Given the description of an element on the screen output the (x, y) to click on. 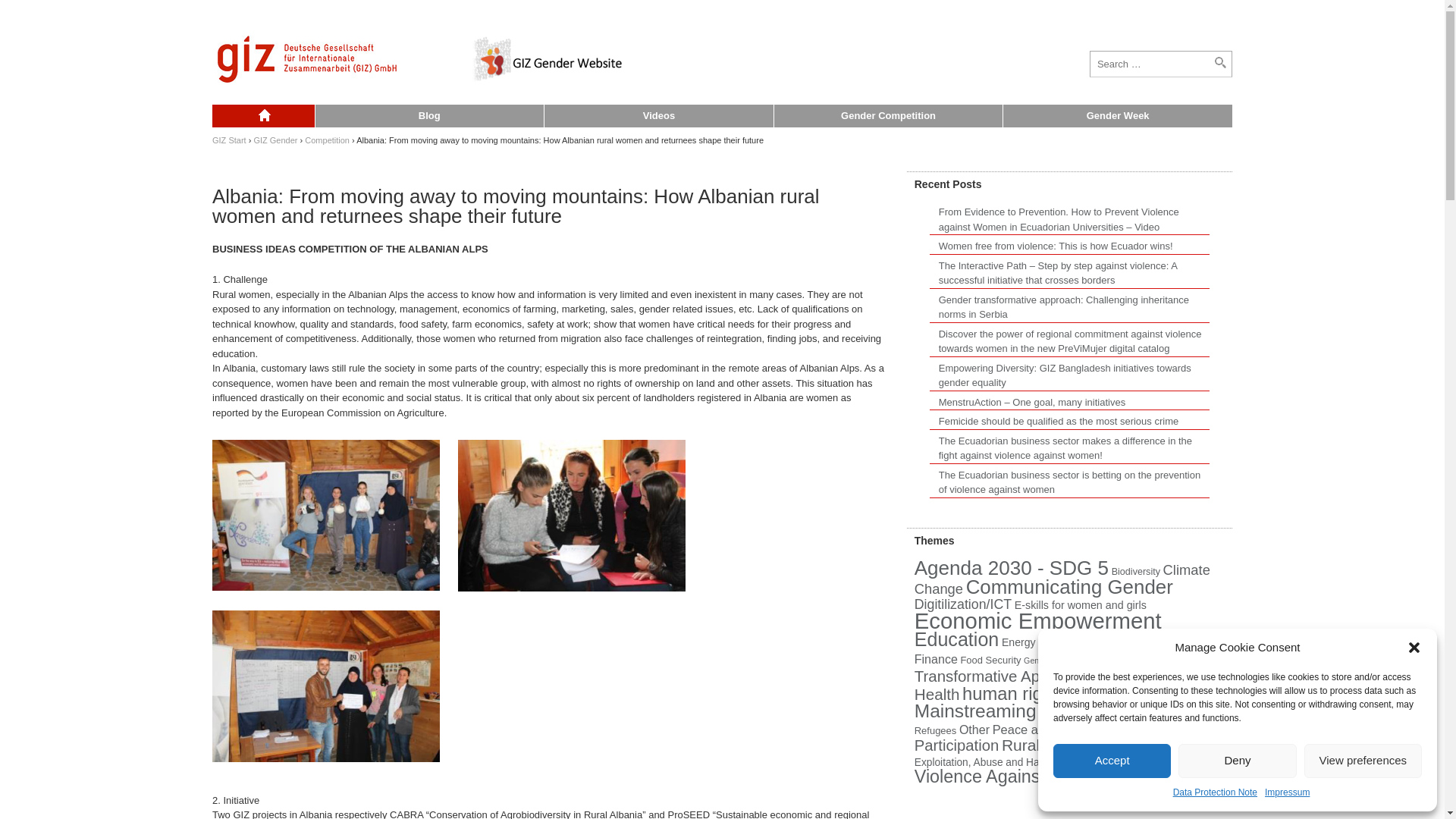
Data Protection Note (1215, 792)
Gender Week (1117, 115)
Gender Competition (888, 115)
View preferences (1363, 759)
Blog (428, 115)
GIZ Gender Website (263, 115)
Impressum (1286, 792)
Accept (1111, 759)
Deny (1236, 759)
Videos (658, 115)
GIZ Start (229, 139)
Search (26, 11)
